Given the description of an element on the screen output the (x, y) to click on. 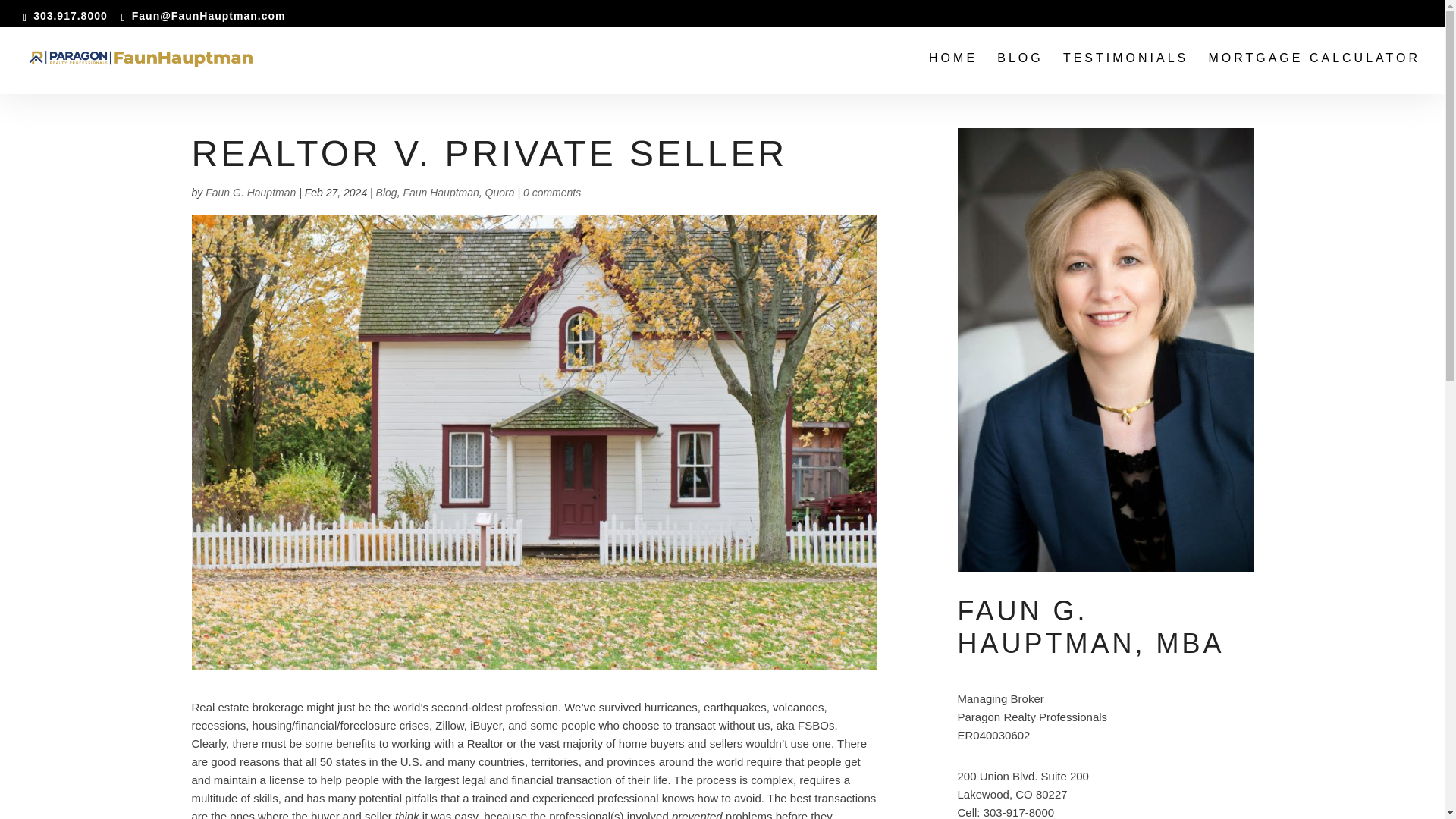
Blog (386, 192)
Faun Hauptman (441, 192)
HOME (952, 73)
TESTIMONIALS (1125, 73)
BLOG (1019, 73)
MORTGAGE CALCULATOR (1314, 73)
Faun G. Hauptman (250, 192)
Quora (499, 192)
Posts by Faun G. Hauptman (250, 192)
0 comments (551, 192)
